Given the description of an element on the screen output the (x, y) to click on. 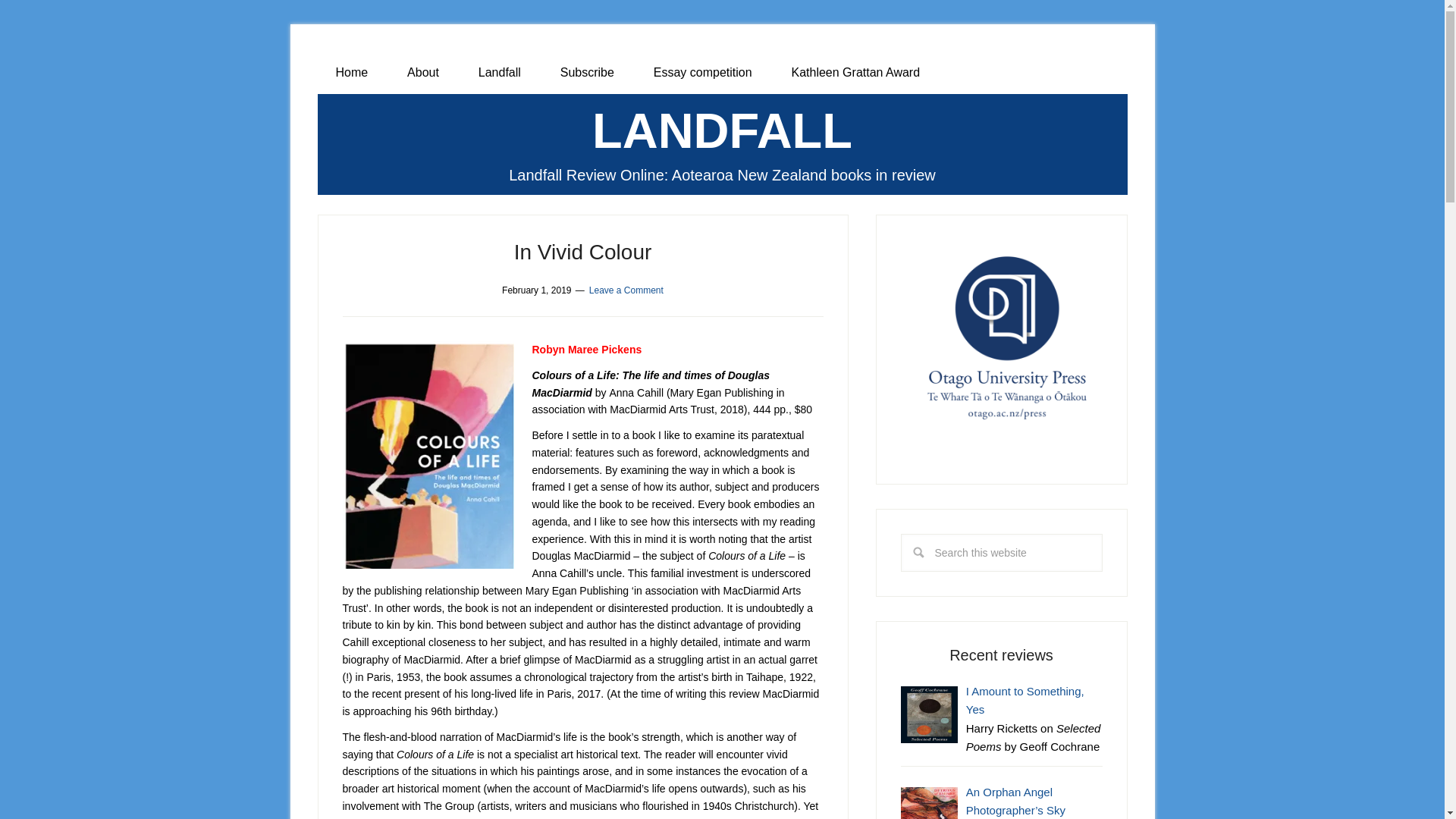
Subscribe (586, 72)
Leave a Comment (626, 290)
LANDFALL (721, 130)
I Amount to Something, Yes (1025, 699)
Kathleen Grattan Award (856, 72)
Otago University Press (1001, 340)
Landfall (499, 72)
Home (351, 72)
